Given the description of an element on the screen output the (x, y) to click on. 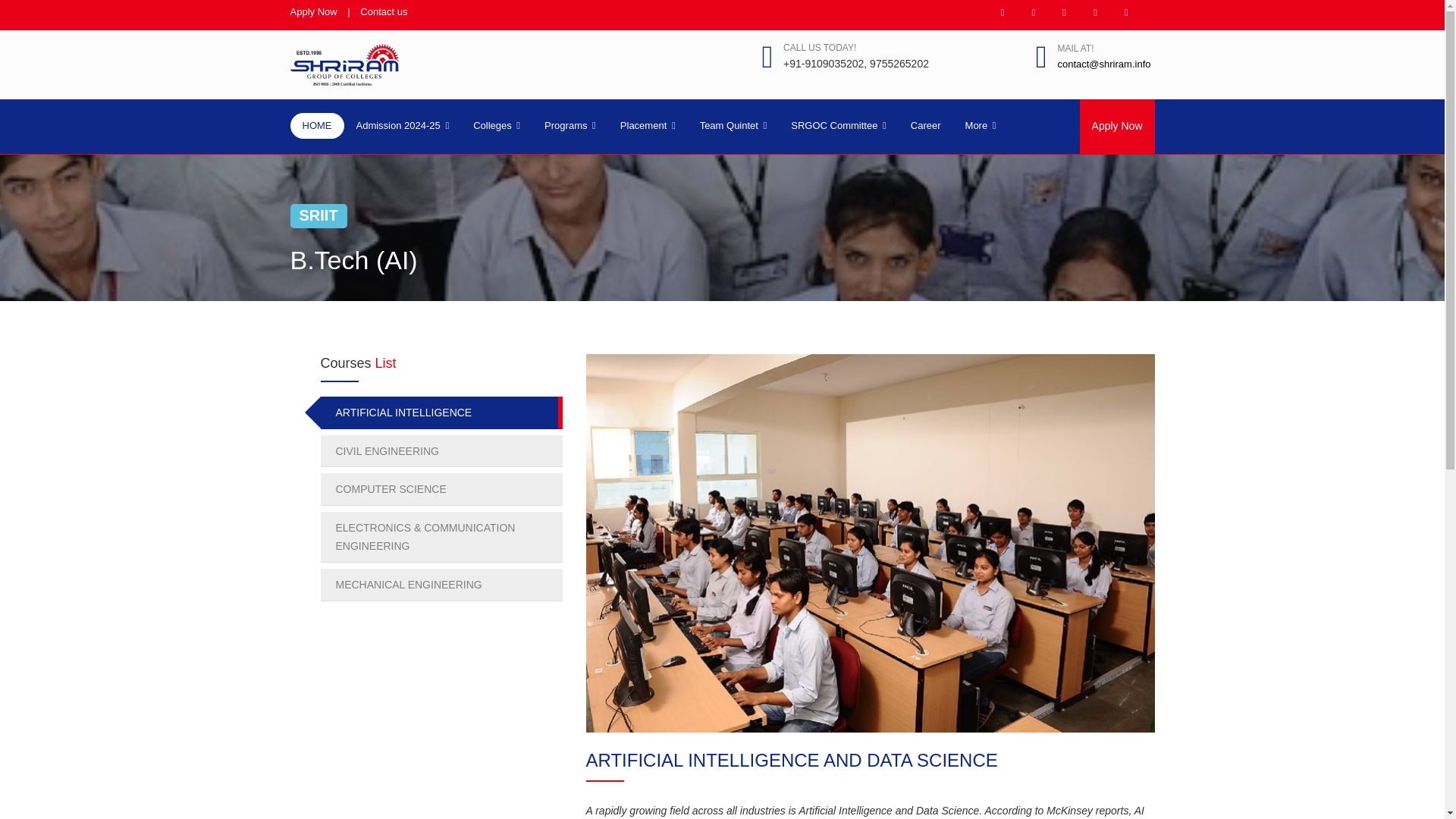
MAIL AT! (1075, 48)
Programs (570, 126)
HOME (316, 126)
Colleges (496, 126)
Admission 2024-25 (402, 126)
Apply Now (312, 11)
Contact us (383, 11)
CALL US TODAY! (819, 47)
